Given the description of an element on the screen output the (x, y) to click on. 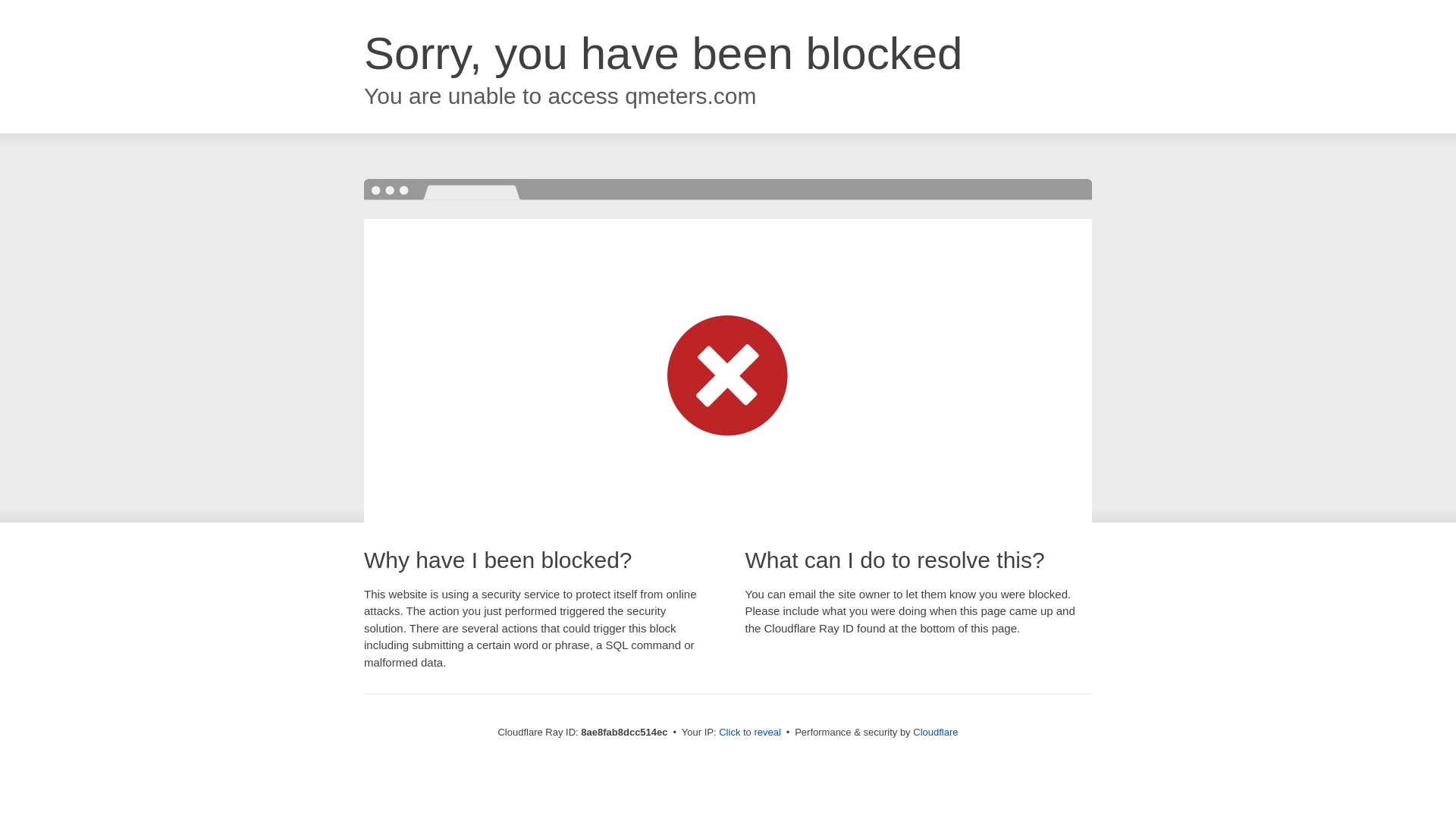
Cloudflare (935, 731)
Click to reveal (749, 732)
